Given the description of an element on the screen output the (x, y) to click on. 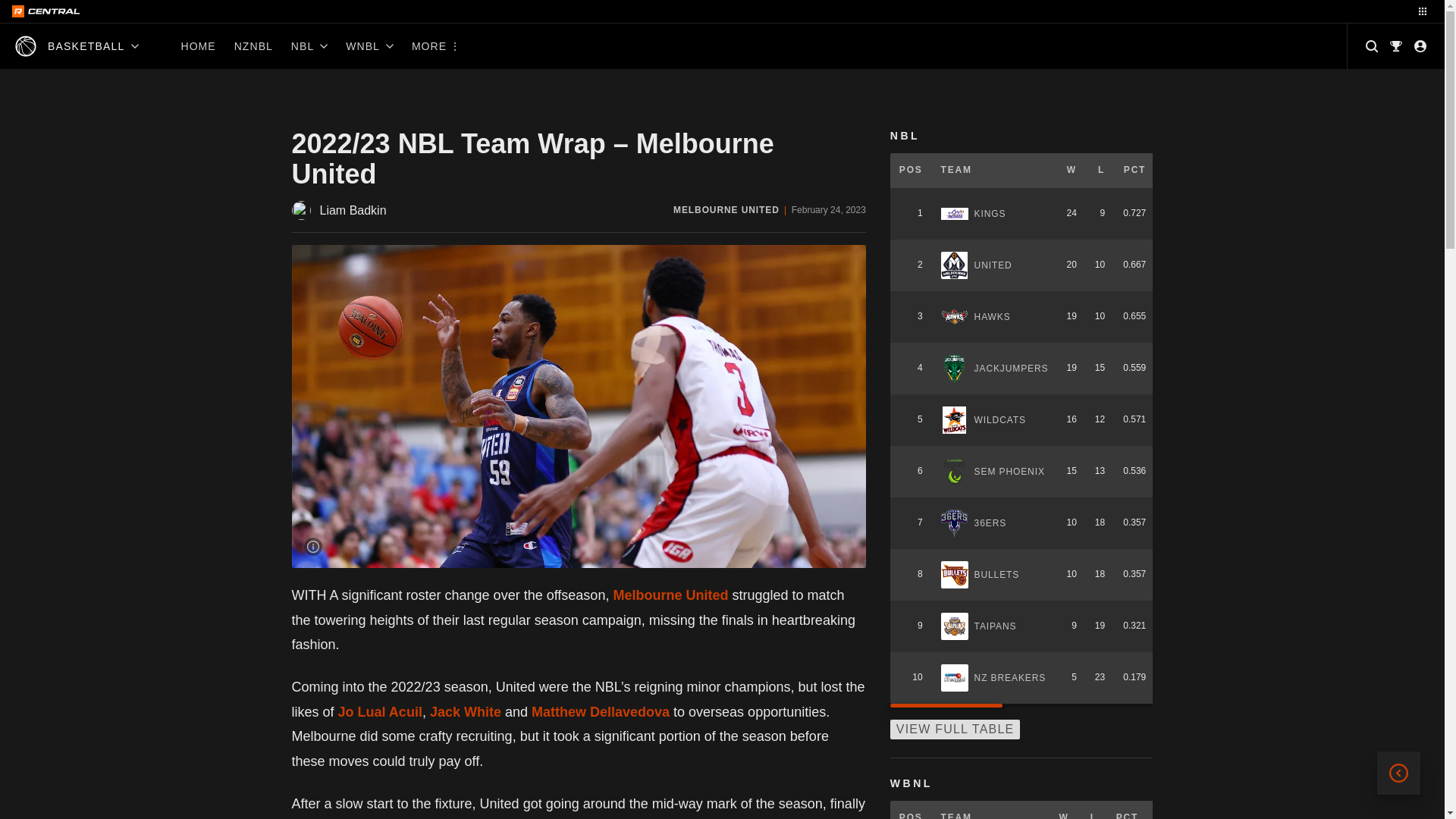
HOME (197, 46)
BASKETBALL (77, 45)
NBL (309, 46)
WNBL (369, 46)
NZNBL (253, 46)
